Given the description of an element on the screen output the (x, y) to click on. 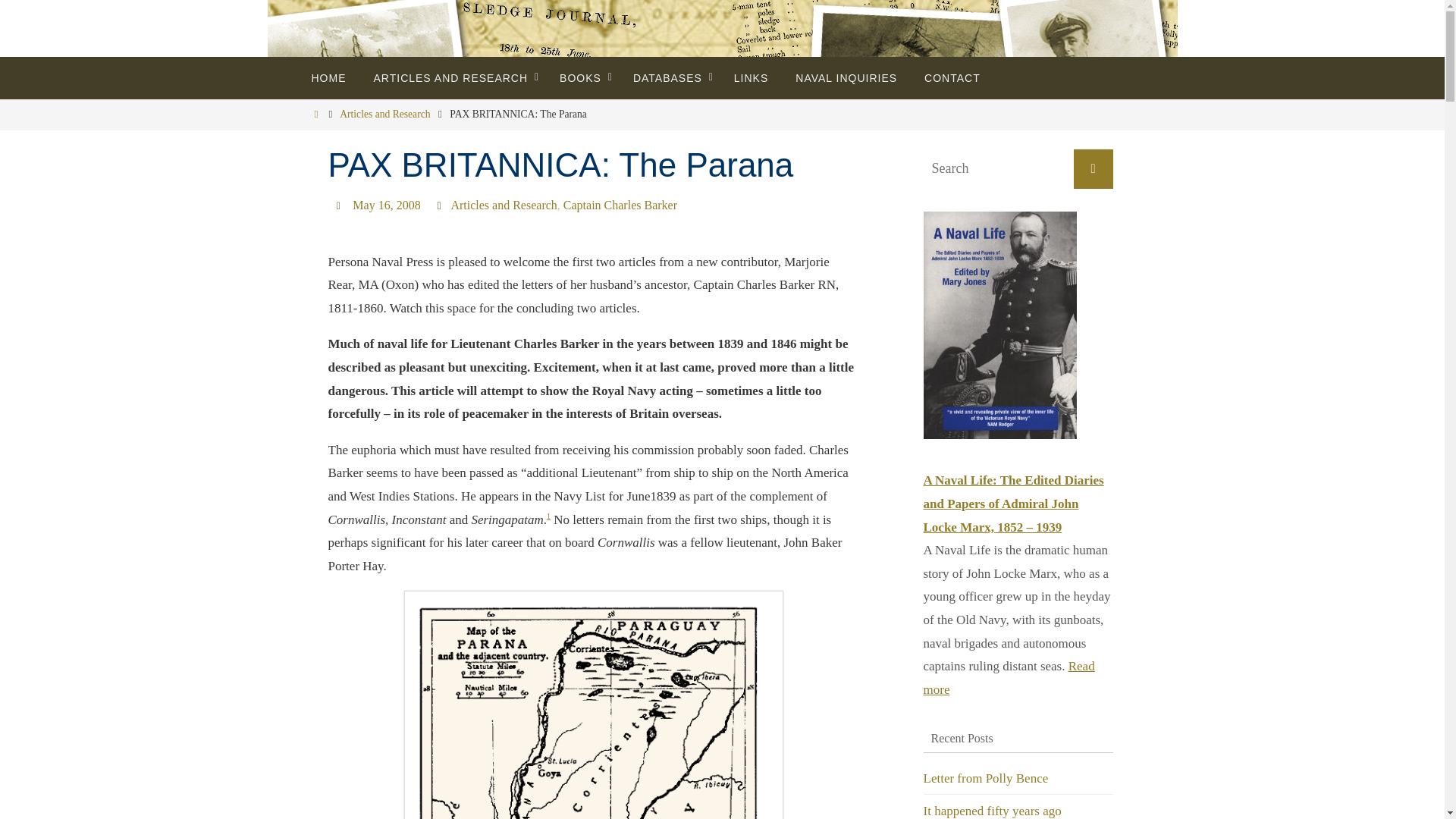
Read more (1008, 678)
Articles and Research (502, 205)
Captain Charles Barker (620, 205)
May 16, 2008 (386, 205)
Home (315, 113)
Date (339, 205)
BOOKS (583, 77)
Categories (441, 205)
HOME (328, 77)
Search (1093, 169)
NAVAL INQUIRIES (846, 77)
CONTACT (952, 77)
Articles and Research (384, 113)
DATABASES (670, 77)
